Given the description of an element on the screen output the (x, y) to click on. 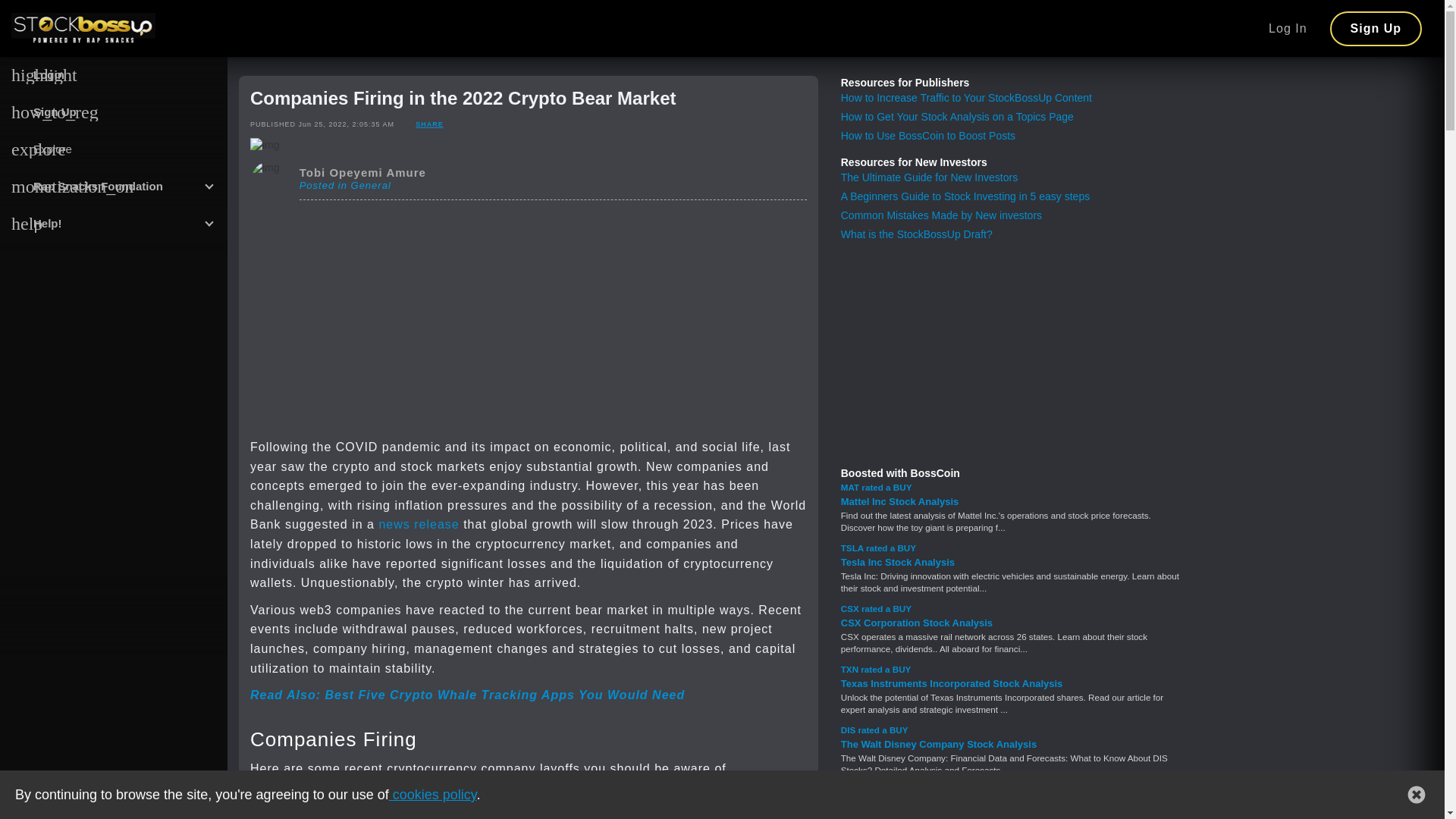
news release (418, 523)
Advertisement (1010, 352)
Advertisement (528, 319)
Log In (1287, 28)
Posted in General (345, 184)
Sign Up (1376, 27)
